Given the description of an element on the screen output the (x, y) to click on. 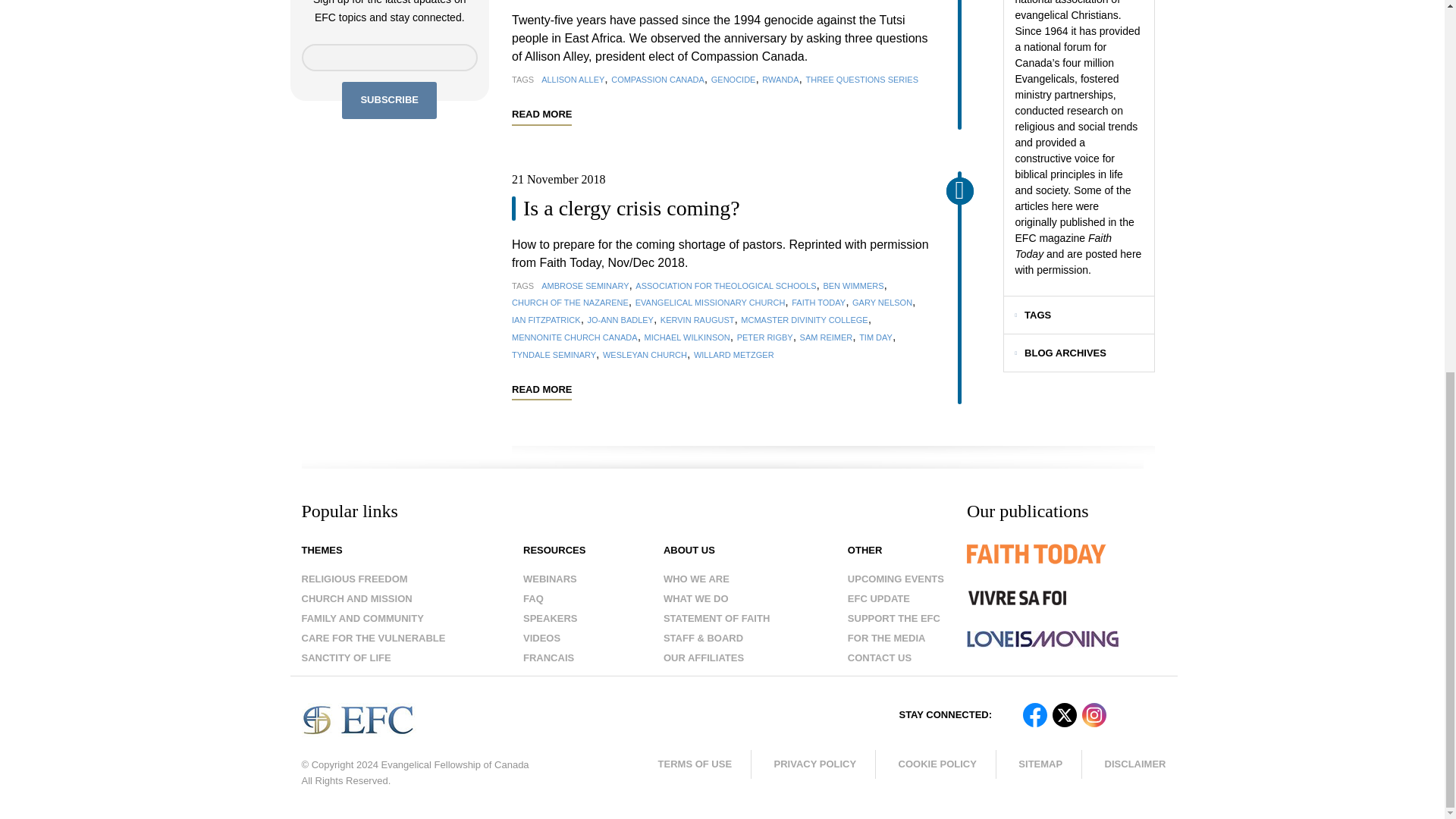
Love Is Moving (1042, 638)
Subscribe (389, 99)
Faith Today Magazine (1066, 564)
